Given the description of an element on the screen output the (x, y) to click on. 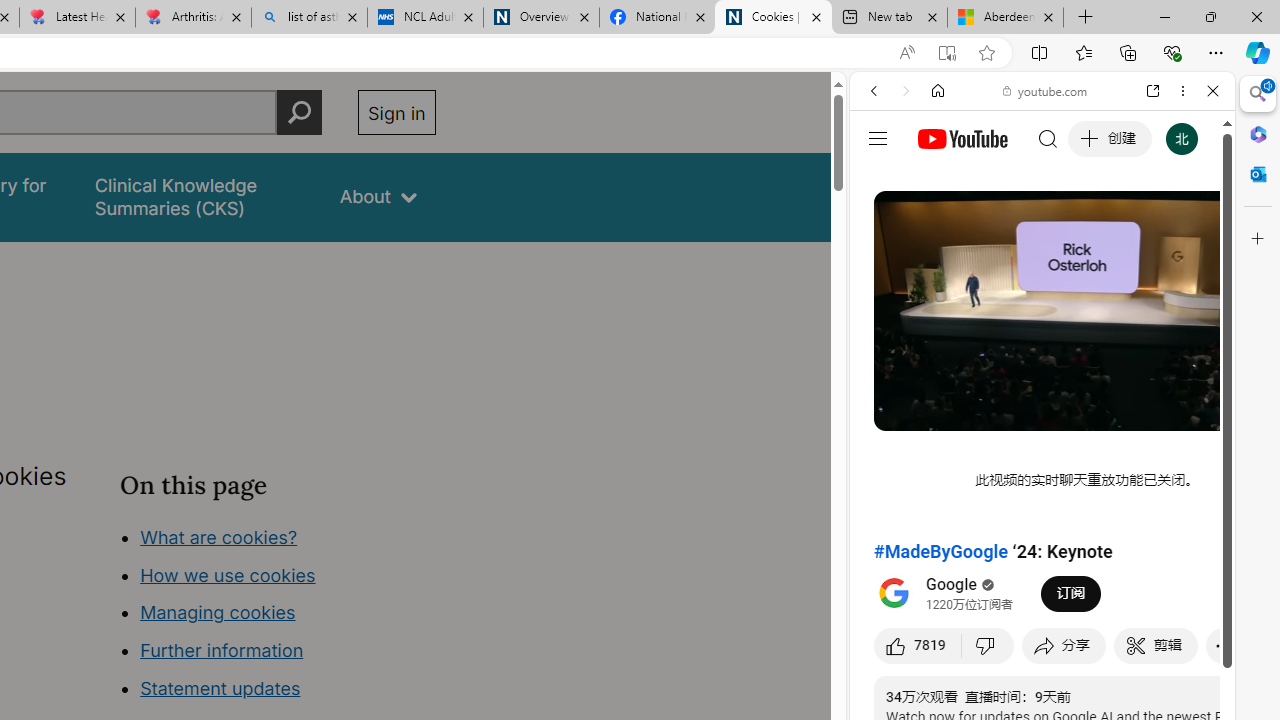
YouTube (1034, 296)
Show More Music (1164, 546)
Aberdeen, Hong Kong SAR hourly forecast | Microsoft Weather (1005, 17)
What are cookies? (218, 536)
Search videos from youtube.com (1005, 657)
SEARCH TOOLS (1093, 228)
Open link in new tab (1153, 91)
How we use cookies (227, 574)
